Given the description of an element on the screen output the (x, y) to click on. 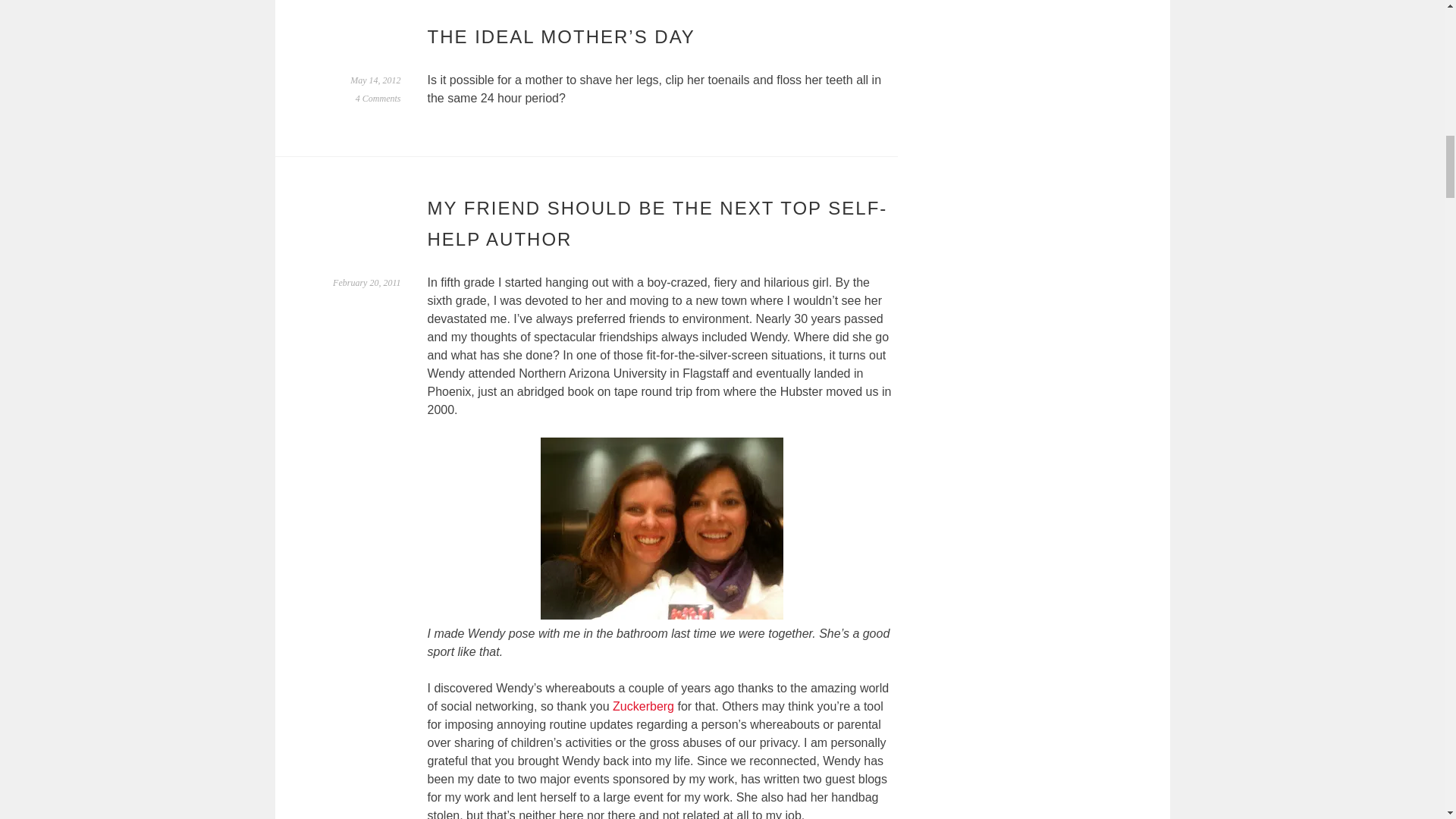
MY FRIEND SHOULD BE THE NEXT TOP SELF-HELP AUTHOR (658, 223)
February 20, 2011 (366, 282)
4 Comments (378, 98)
May 14, 2012 (375, 80)
Zuckerberg (643, 706)
